Given the description of an element on the screen output the (x, y) to click on. 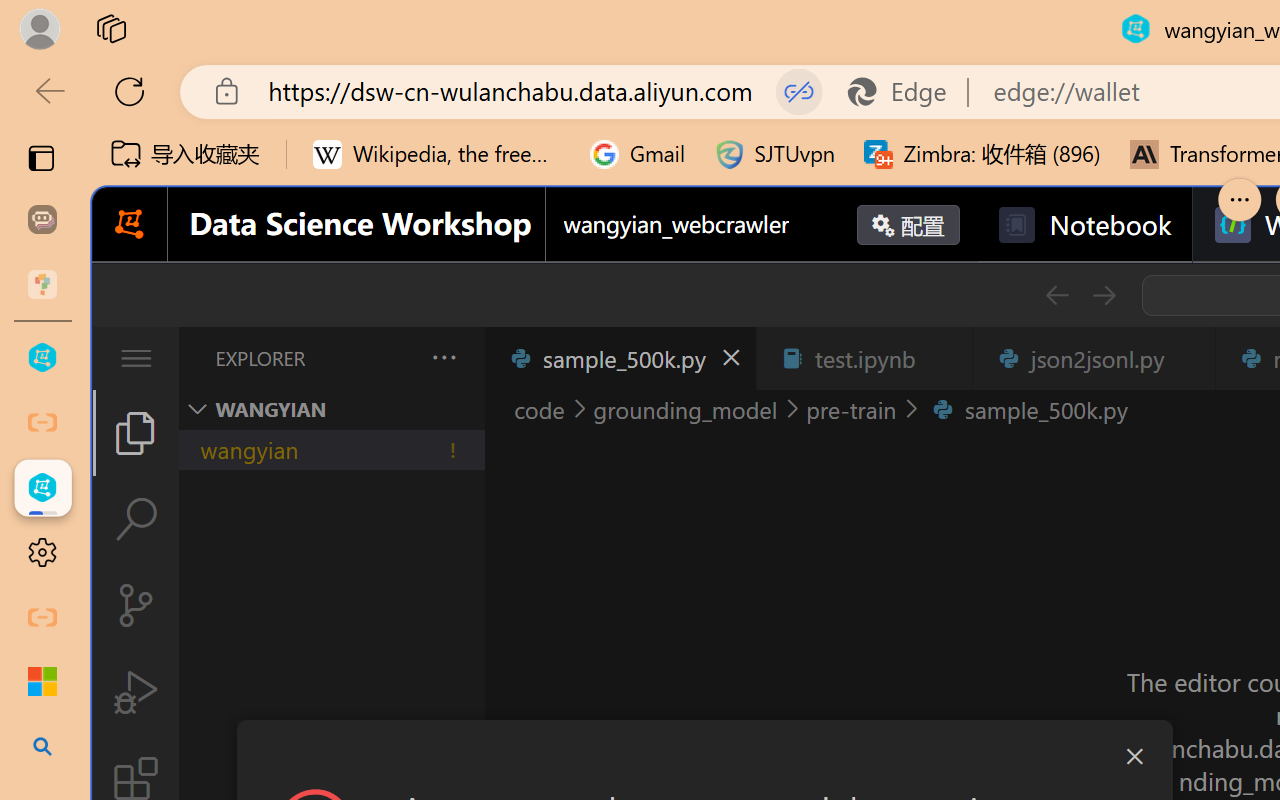
Notebook (1083, 225)
